Given the description of an element on the screen output the (x, y) to click on. 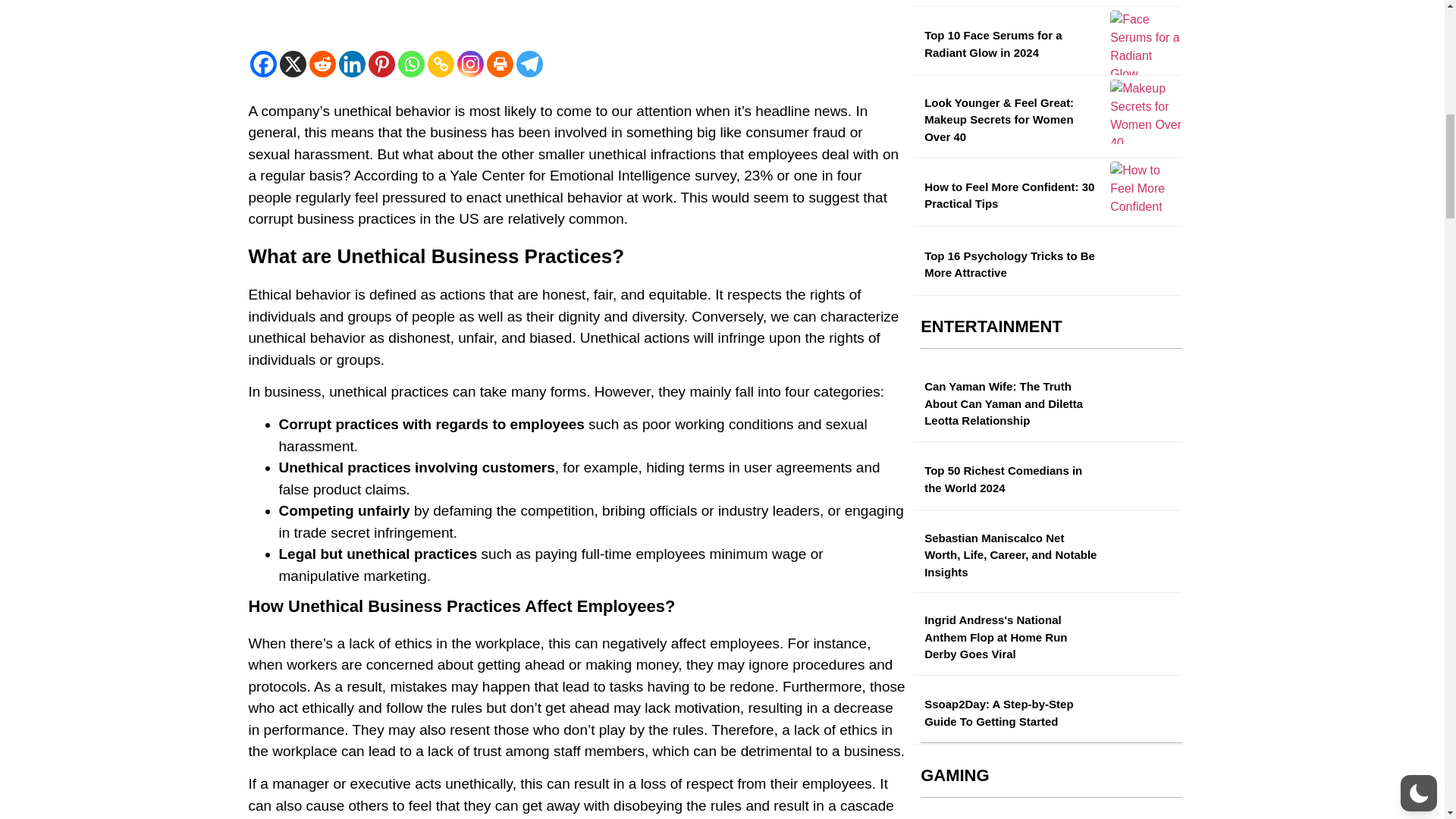
Facebook (263, 63)
Whatsapp (410, 63)
X (292, 63)
Telegram (528, 63)
Linkedin (351, 63)
Pinterest (381, 63)
Instagram (470, 63)
Copy Link (441, 63)
Print (499, 63)
Reddit (322, 63)
